Given the description of an element on the screen output the (x, y) to click on. 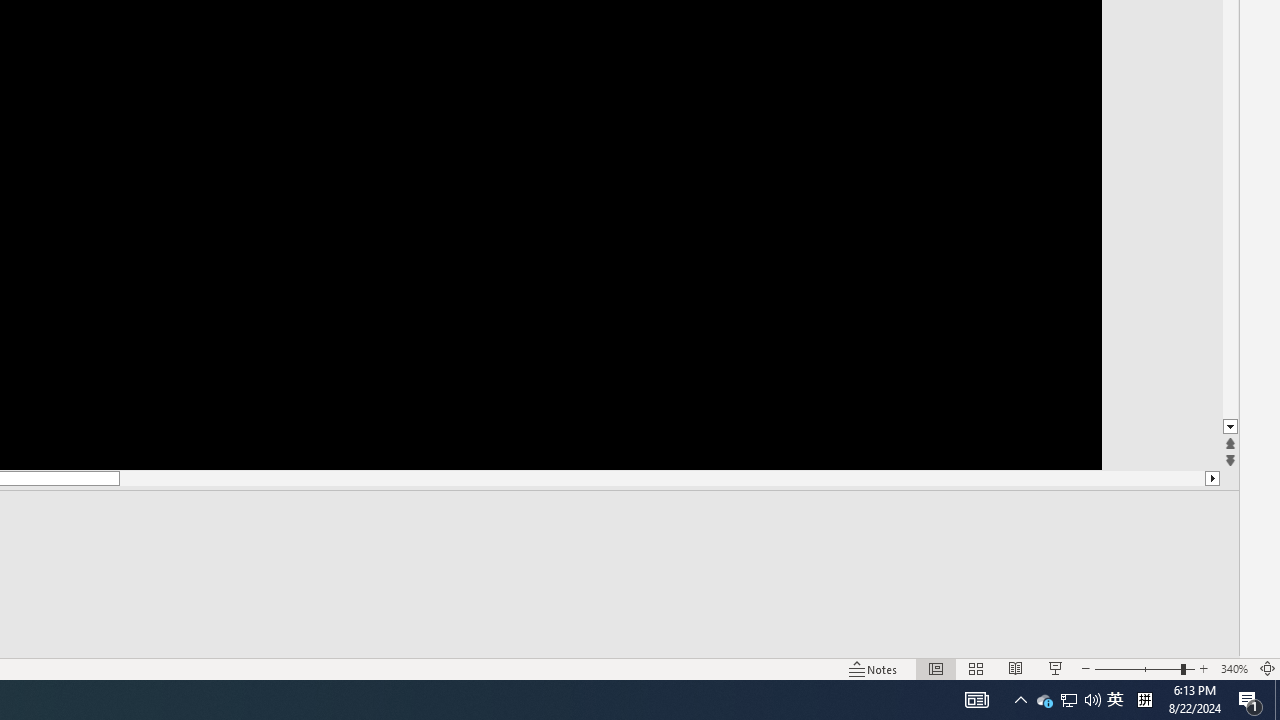
Zoom 340% (1234, 668)
Page down (1230, 277)
Line down (1230, 427)
